Given the description of an element on the screen output the (x, y) to click on. 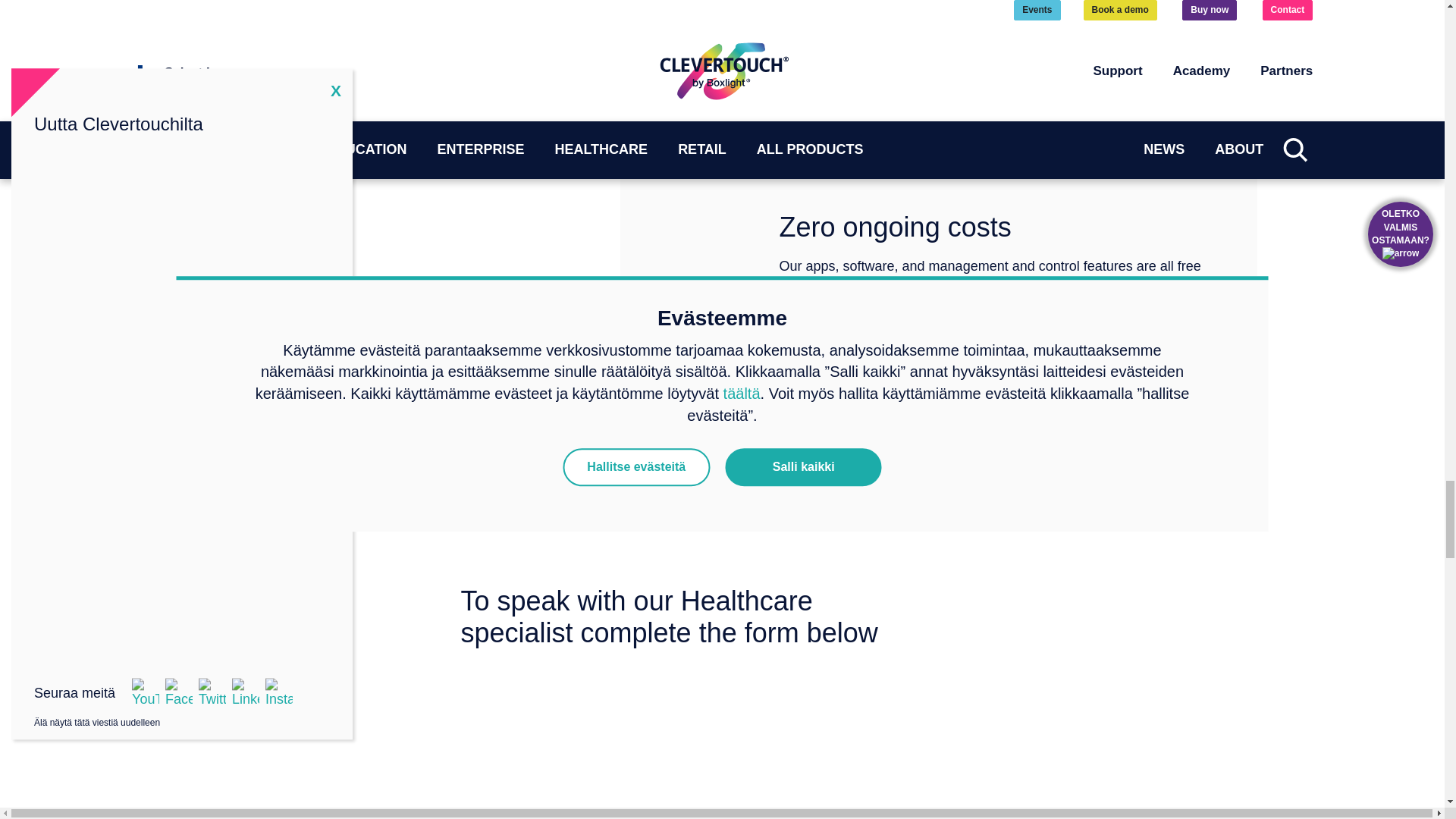
Form 1 (722, 740)
